Given the description of an element on the screen output the (x, y) to click on. 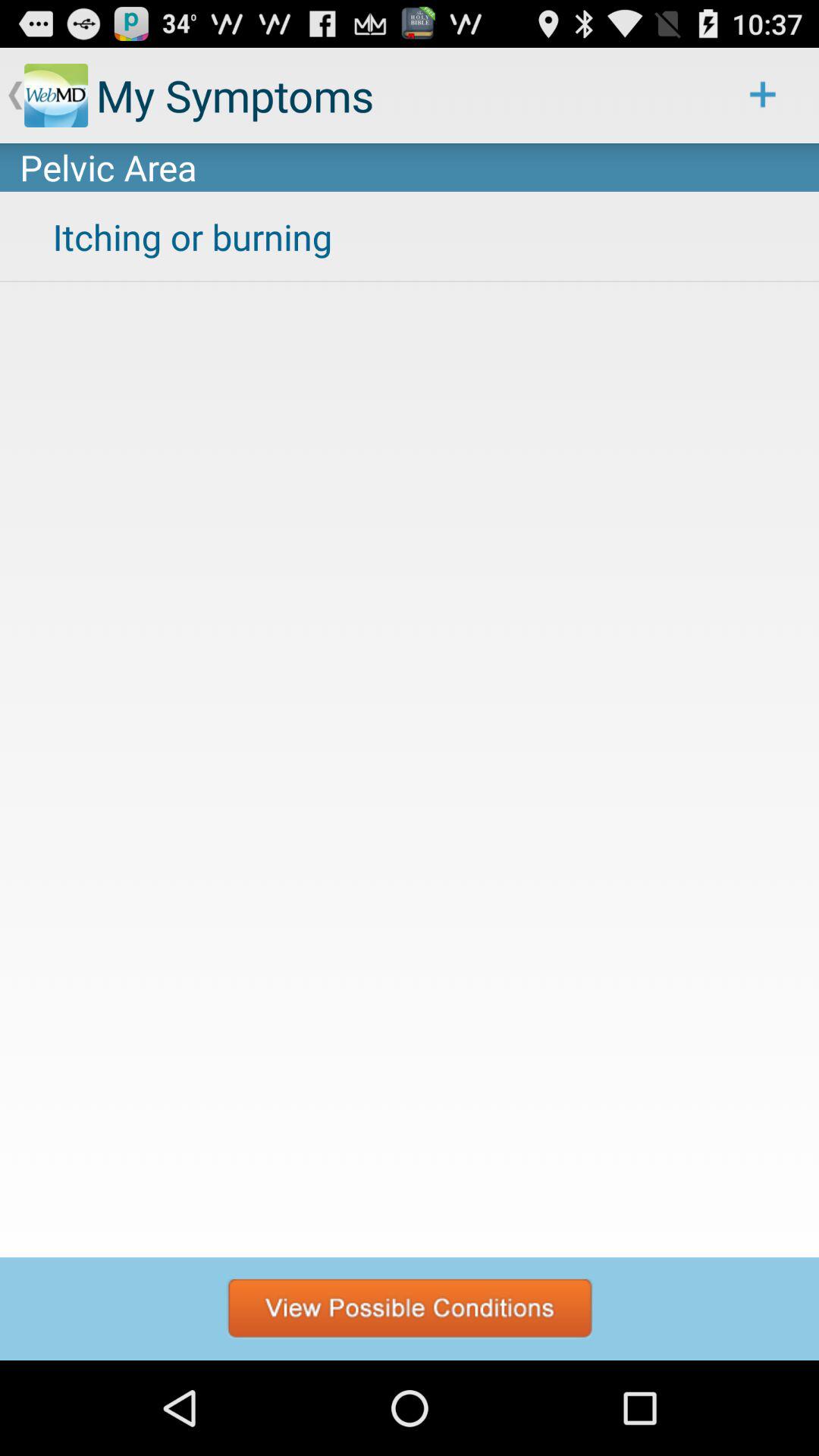
possible conditions search (409, 1308)
